Given the description of an element on the screen output the (x, y) to click on. 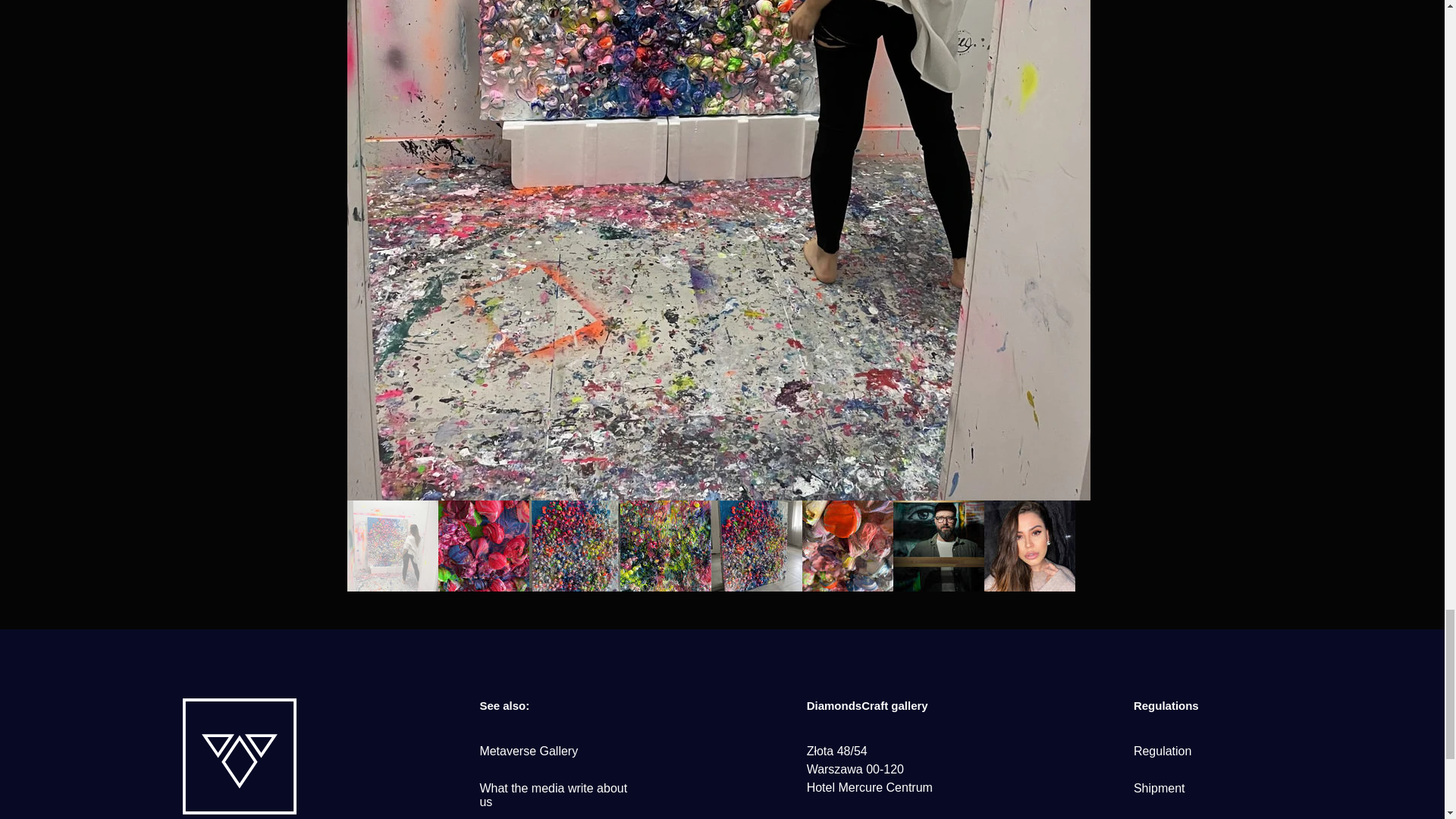
Metaverse Gallery (528, 750)
Shipment (1159, 788)
What the media write about us (553, 795)
Regulation (1163, 750)
